Given the description of an element on the screen output the (x, y) to click on. 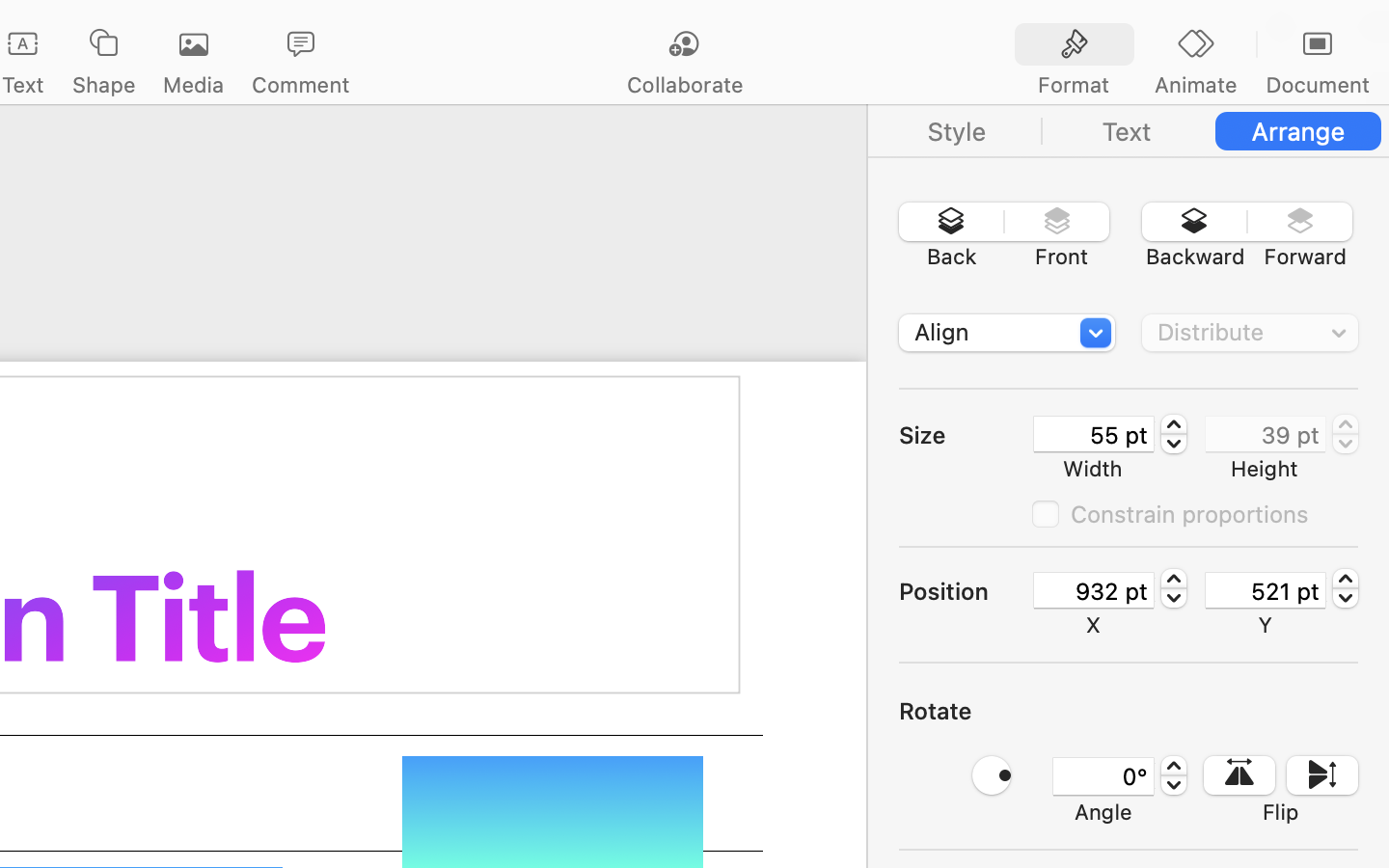
0° Element type: AXTextField (1103, 776)
<AXUIElement 0x299dcc570> {pid=1697} Element type: AXGroup (1195, 45)
<AXUIElement 0x2996dd680> {pid=1697} Element type: AXRadioGroup (1128, 131)
0.0 Element type: AXIncrementor (1173, 775)
